Given the description of an element on the screen output the (x, y) to click on. 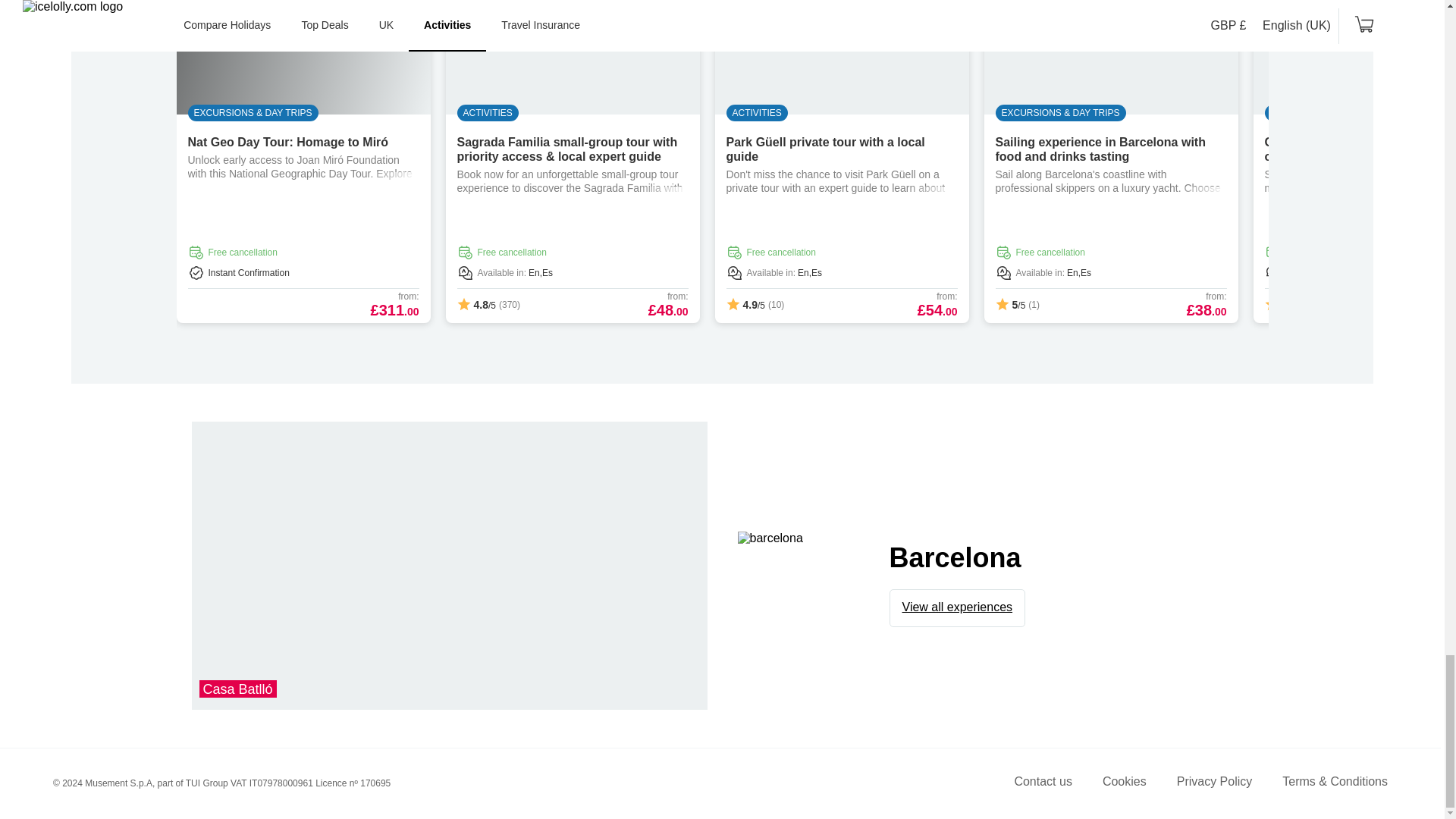
Sailing experience in Barcelona with food and drinks tasting (1099, 148)
View all experiences (957, 607)
Cookies (1124, 783)
Contact us (1042, 783)
